Given the description of an element on the screen output the (x, y) to click on. 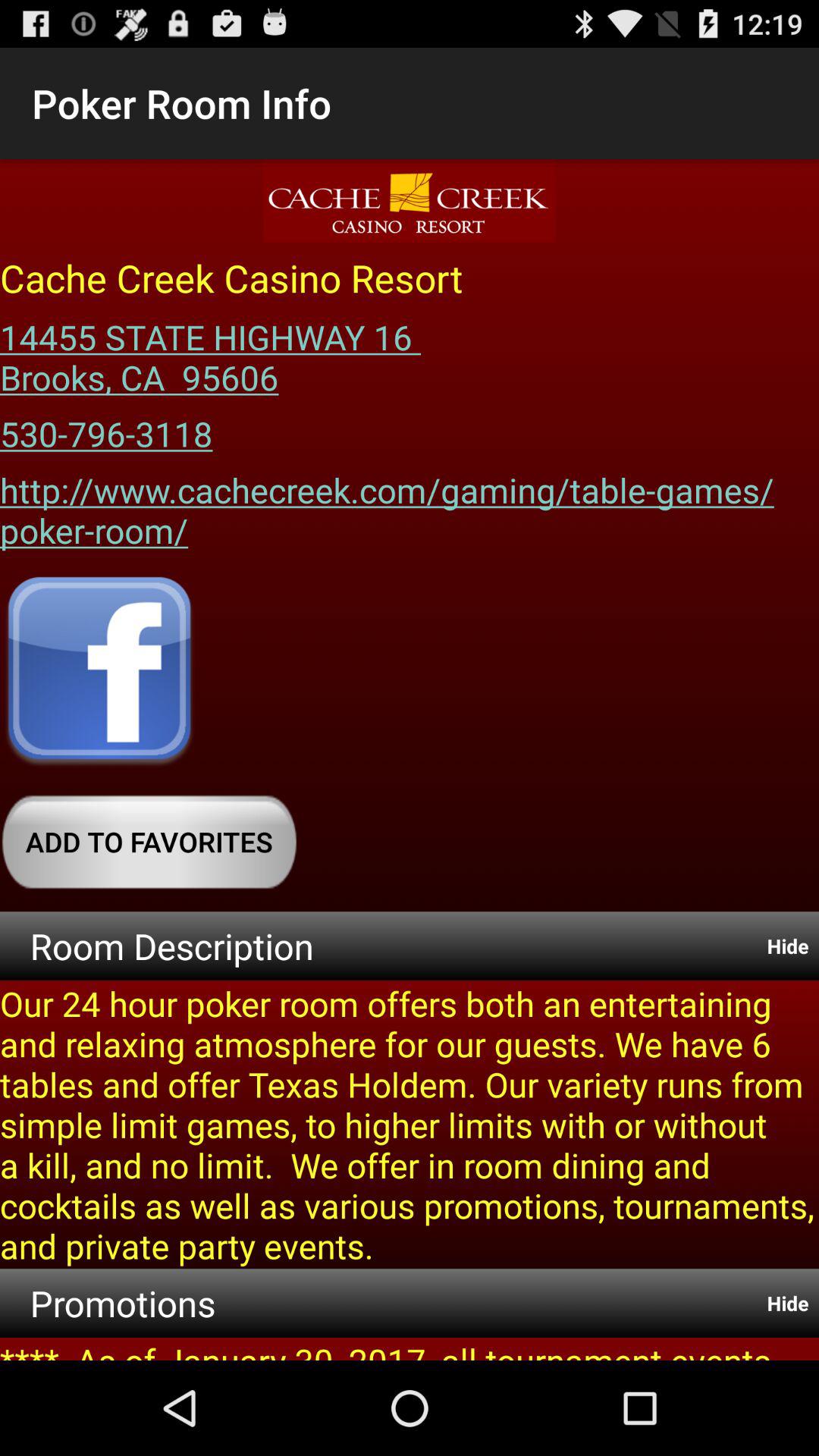
turn on the 530-796-3118 app (106, 428)
